Given the description of an element on the screen output the (x, y) to click on. 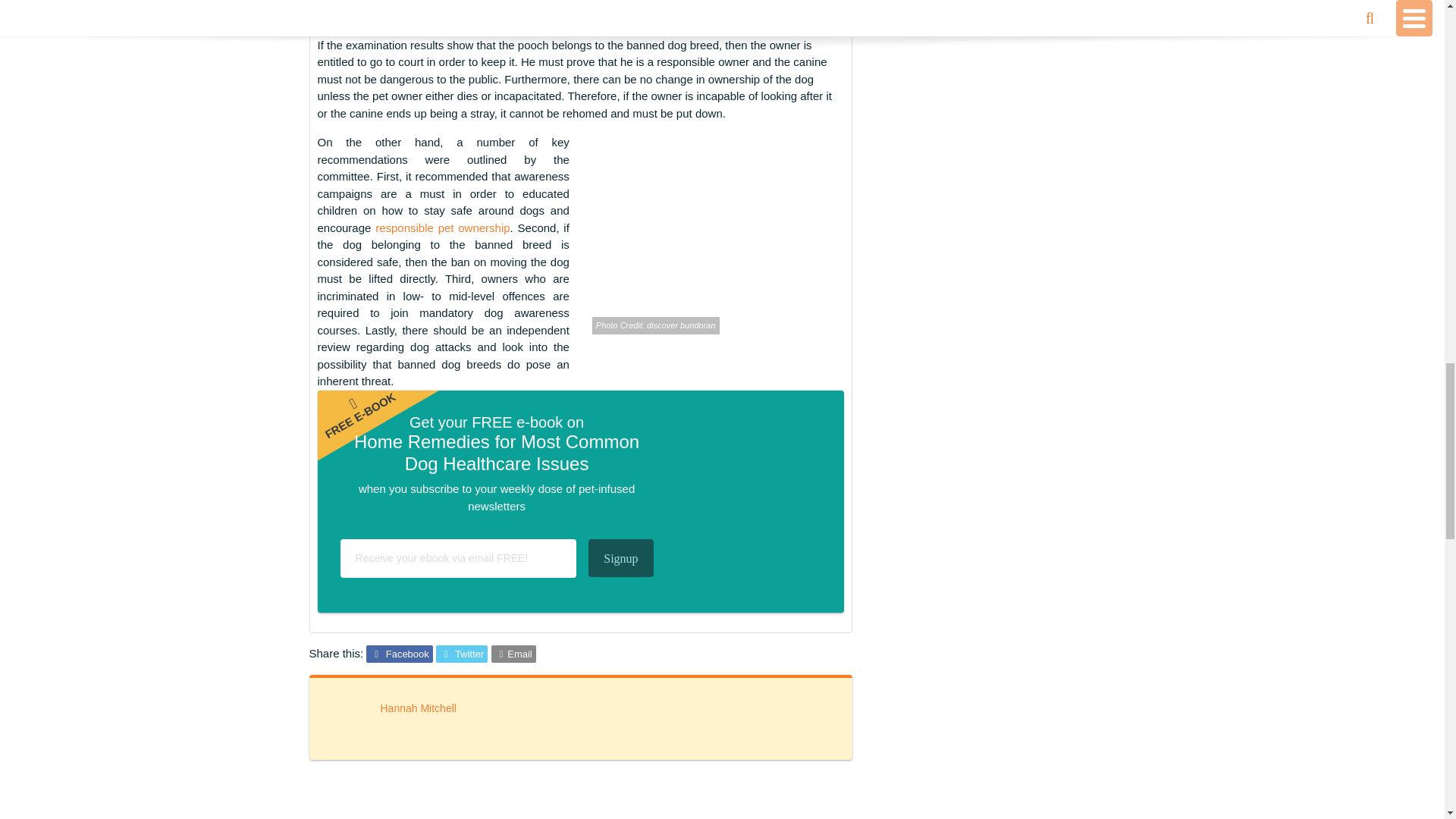
Advertisement (581, 807)
Signup (620, 557)
Share to a Friend (513, 653)
